Given the description of an element on the screen output the (x, y) to click on. 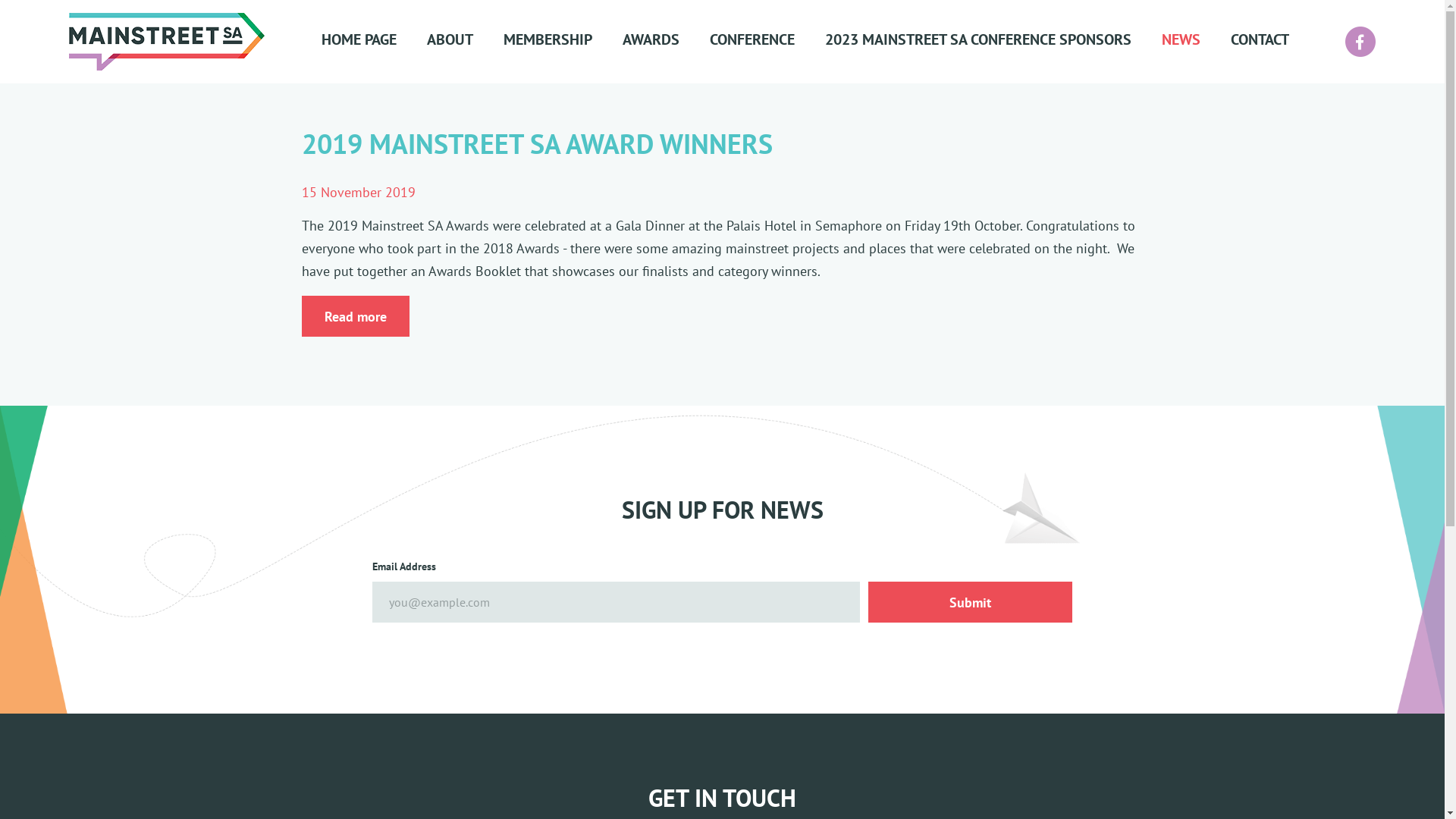
CONTACT Element type: text (1259, 41)
HOME PAGE Element type: text (373, 41)
ABOUT Element type: text (464, 41)
2023 MAINSTREET SA CONFERENCE SPONSORS Element type: text (993, 41)
AWARDS Element type: text (665, 41)
Facebook Element type: text (1360, 41)
Submit Element type: text (970, 602)
CONFERENCE Element type: text (767, 41)
NEWS Element type: text (1195, 41)
MEMBERSHIP Element type: text (562, 41)
Read more Element type: text (355, 315)
